Given the description of an element on the screen output the (x, y) to click on. 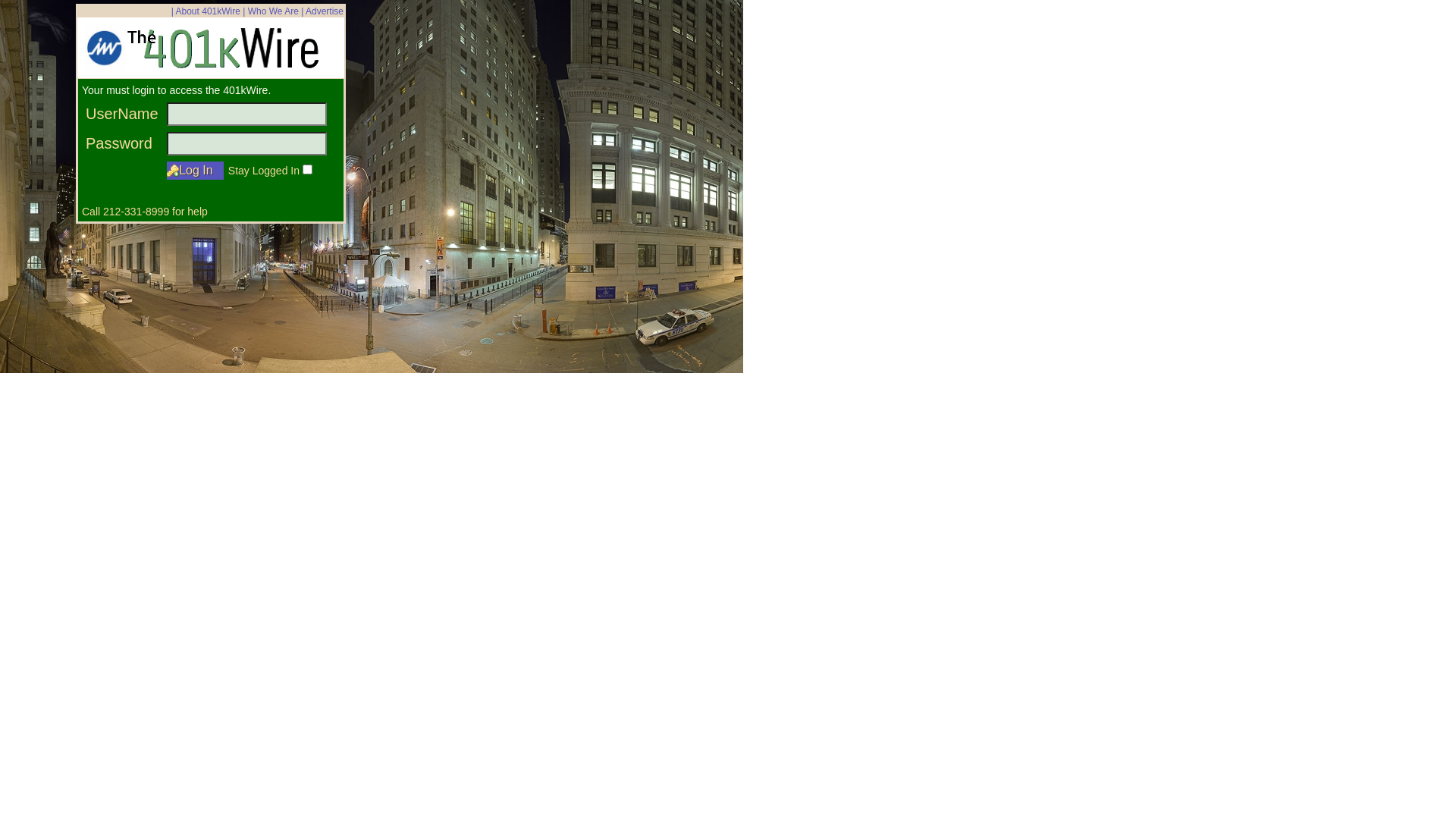
About 401kWire Element type: text (207, 11)
 Log In  Element type: text (194, 170)
Advertise Element type: text (324, 11)
Who We Are Element type: text (272, 11)
